Given the description of an element on the screen output the (x, y) to click on. 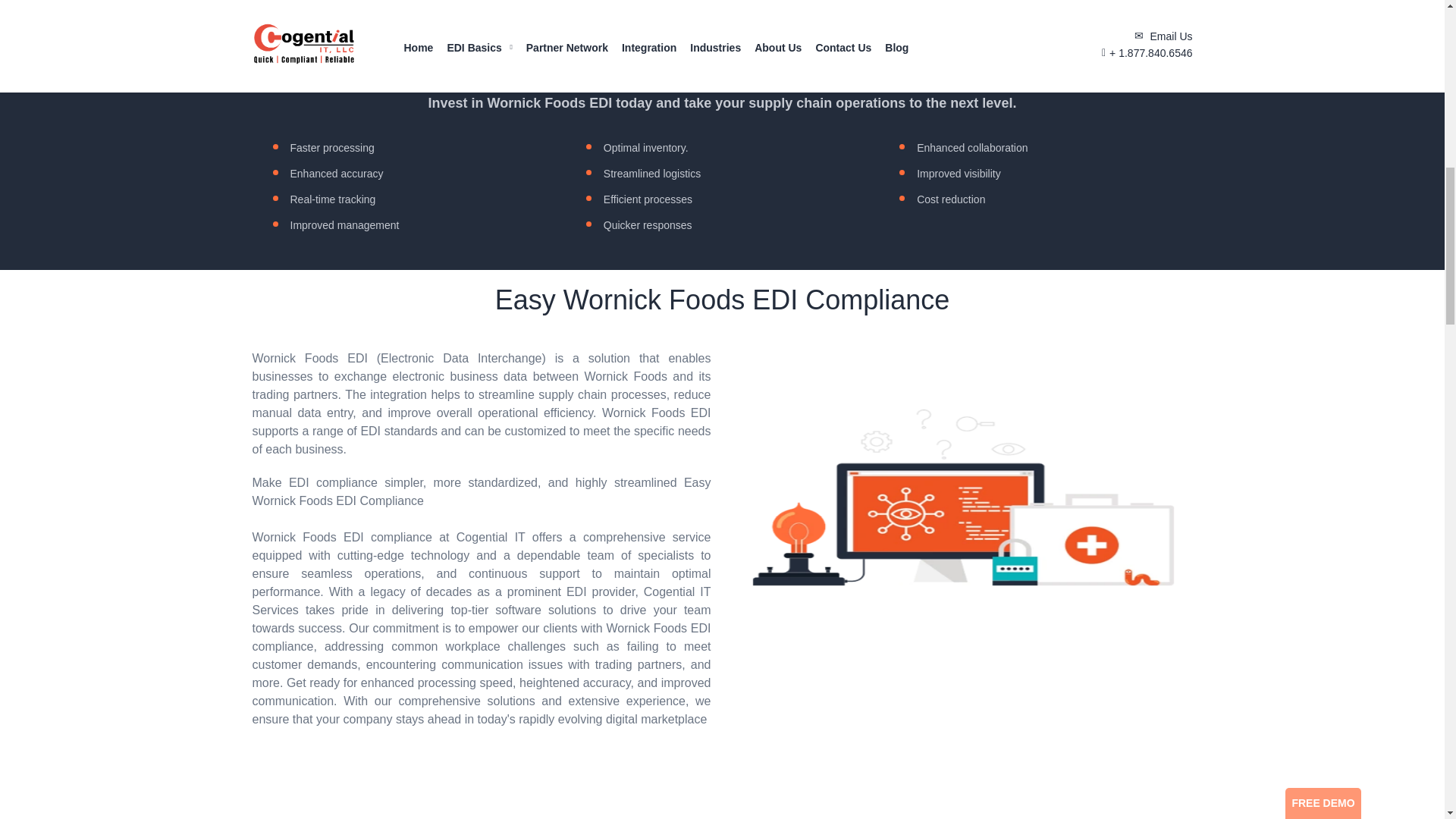
Send (1227, 354)
Send (1227, 354)
